Given the description of an element on the screen output the (x, y) to click on. 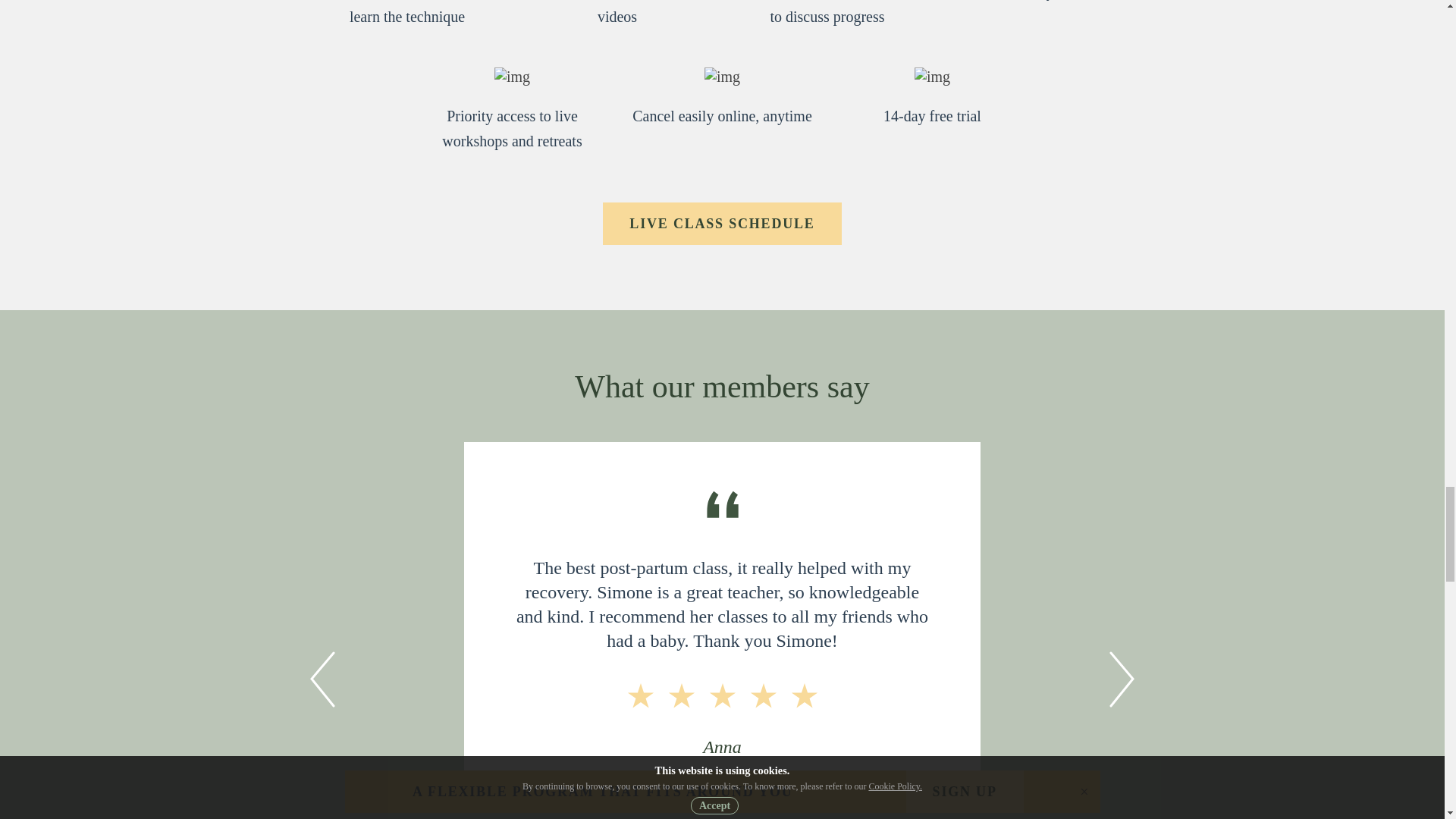
LIVE CLASS SCHEDULE (721, 223)
